Given the description of an element on the screen output the (x, y) to click on. 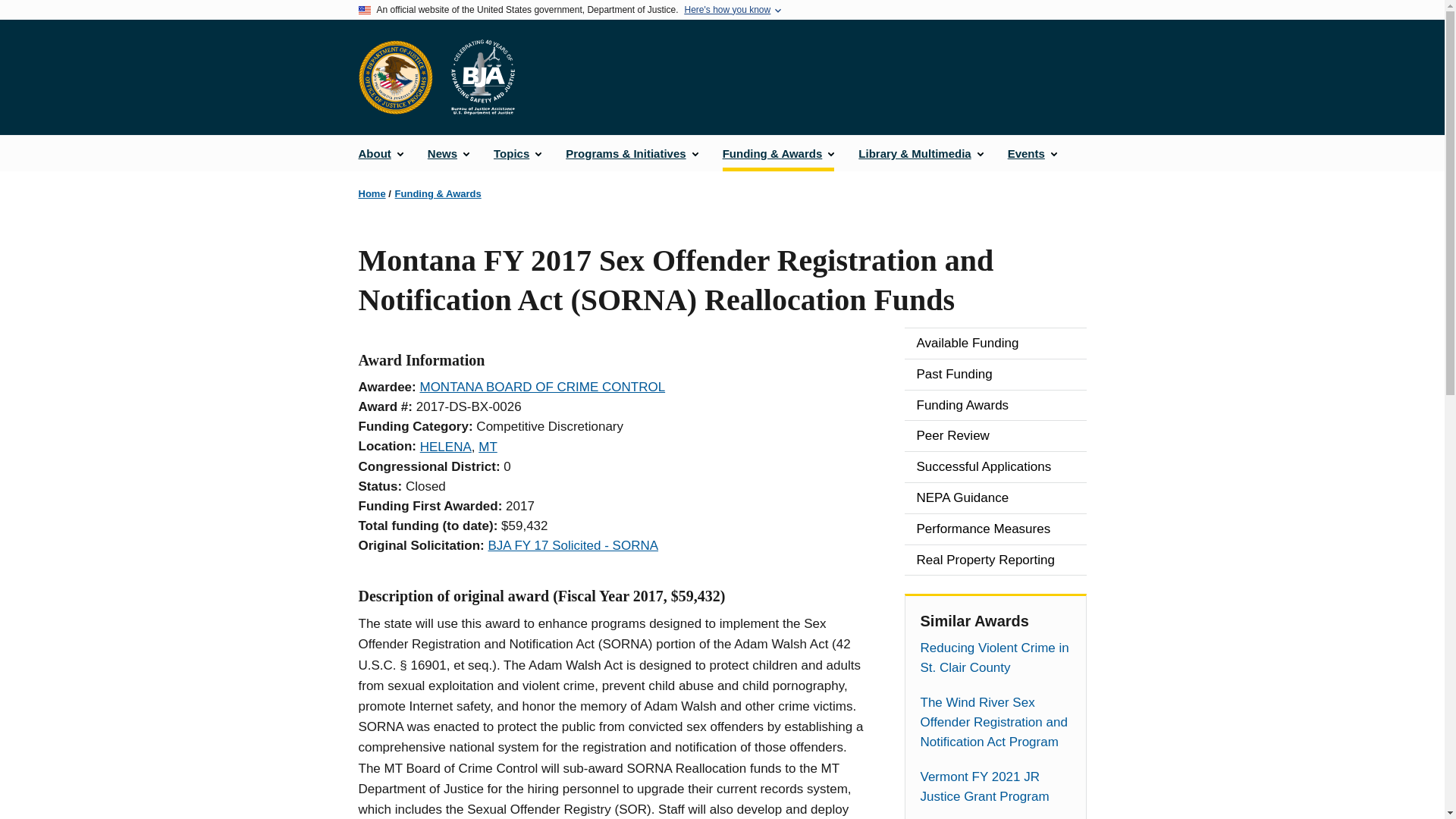
Successful Applications (995, 467)
Reducing Violent Crime in St. Clair County (995, 658)
Vermont FY 2021 JR Justice Grant Program (995, 786)
HELENA (445, 446)
Office of Justice Programs (395, 77)
Funding Awards (995, 405)
MT (488, 446)
Past Funding (995, 374)
